Given the description of an element on the screen output the (x, y) to click on. 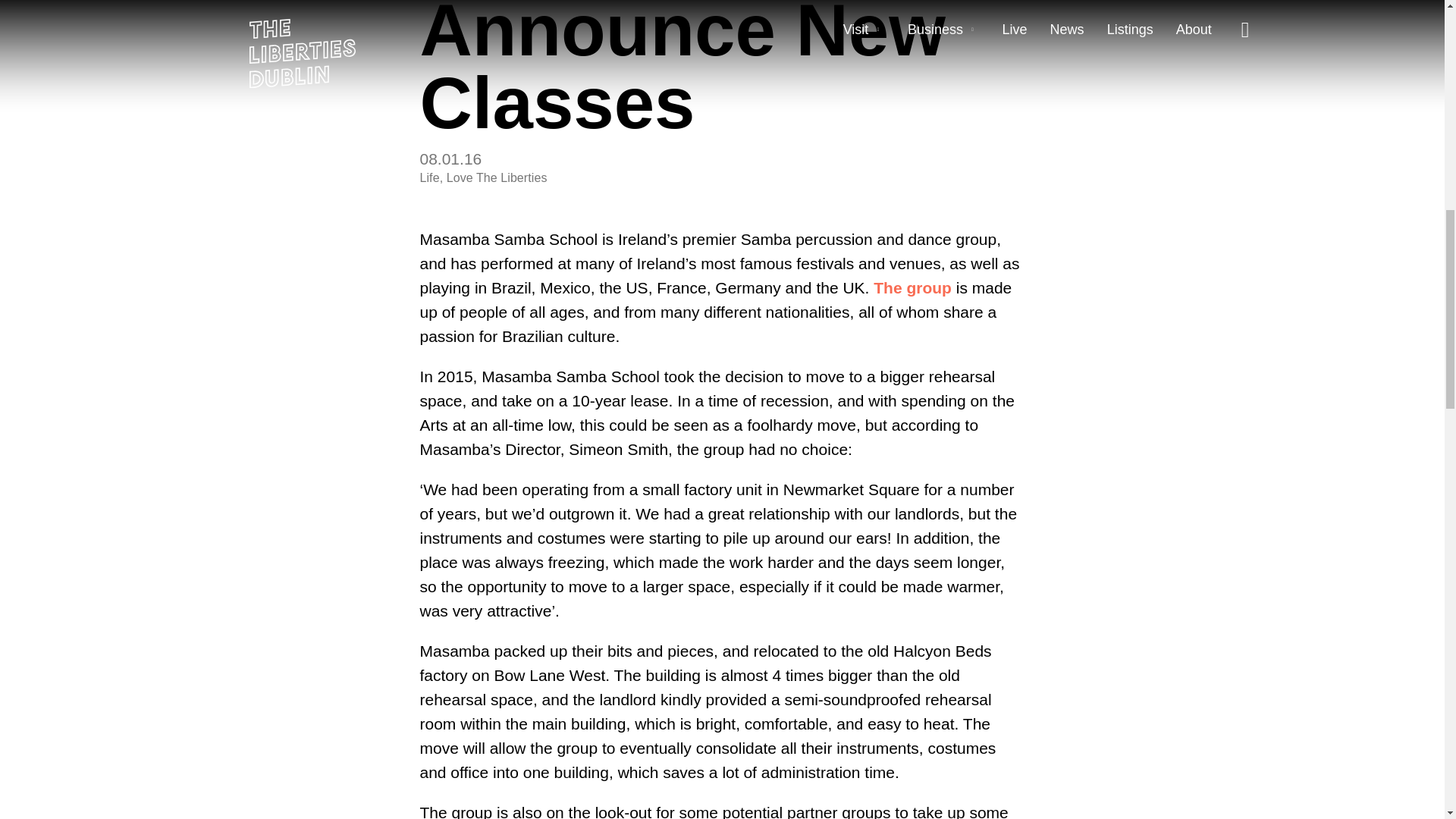
Life (429, 177)
Love The Liberties (496, 177)
The group (912, 288)
